Given the description of an element on the screen output the (x, y) to click on. 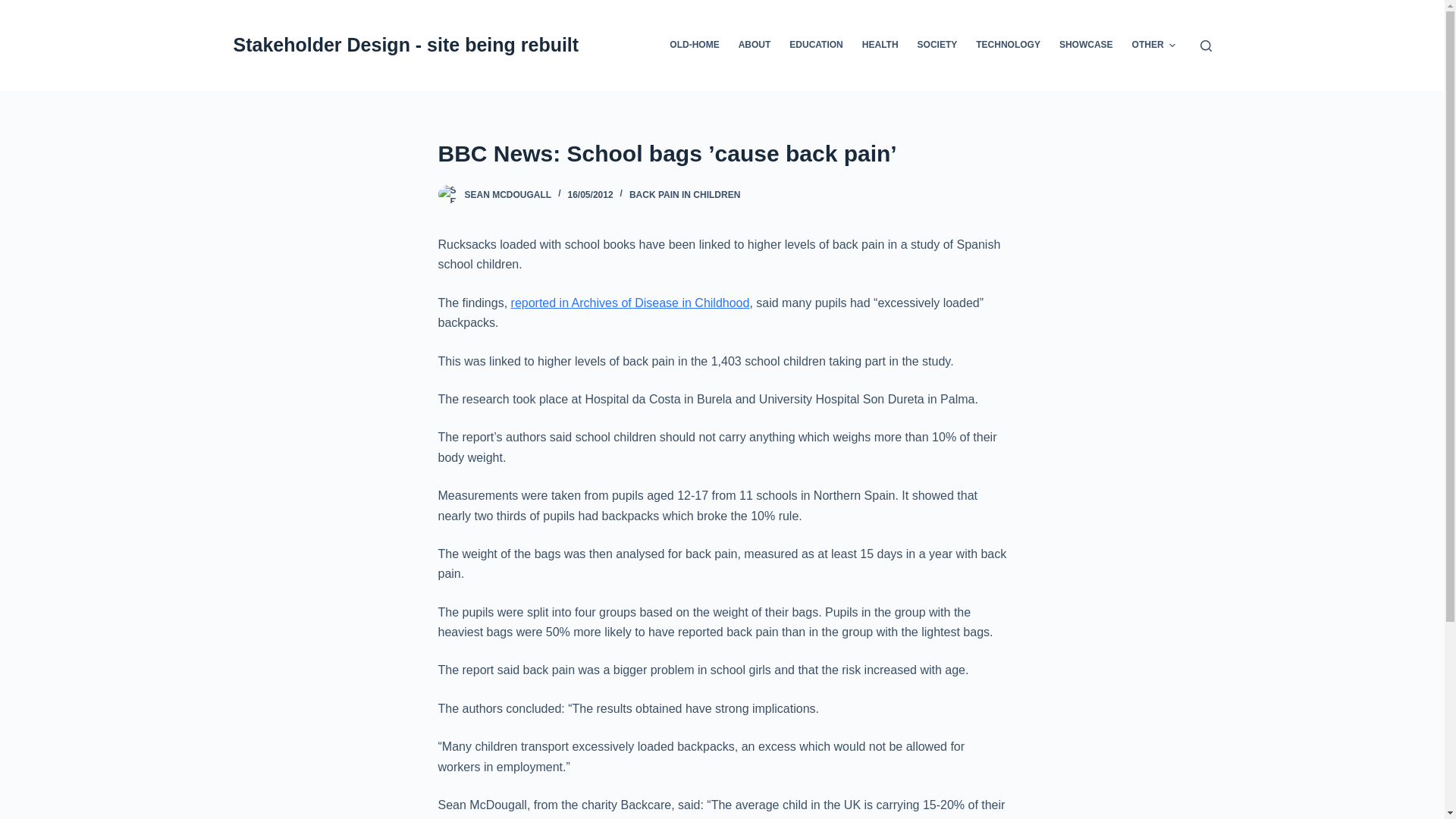
TECHNOLOGY (1007, 45)
Skip to content (15, 7)
reported in Archives of Disease in Childhood (630, 302)
BACK PAIN IN CHILDREN (683, 194)
Posts by Sean McDougall (507, 194)
Stakeholder Design - site being rebuilt (405, 44)
SEAN MCDOUGALL (507, 194)
